Given the description of an element on the screen output the (x, y) to click on. 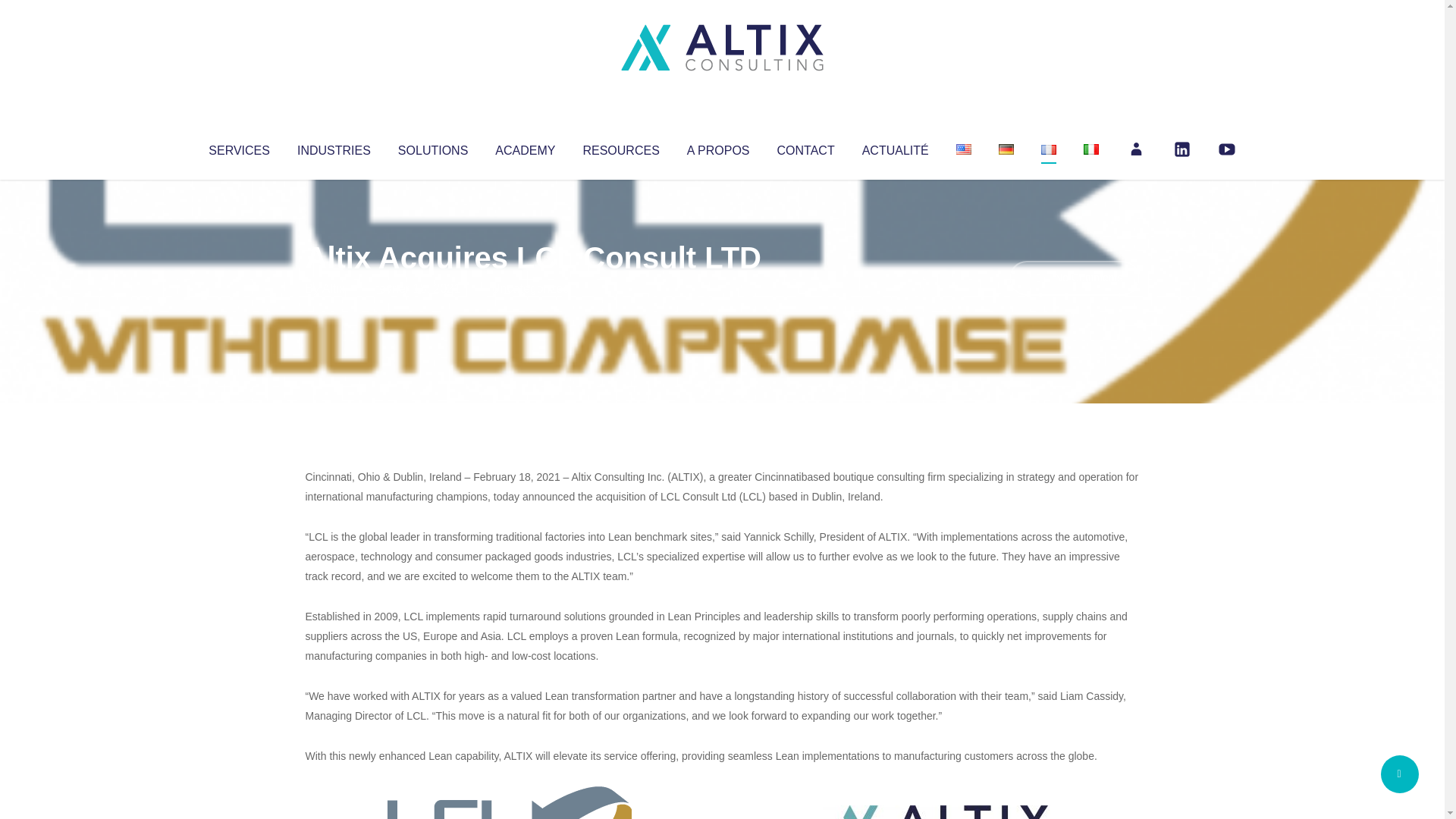
A PROPOS (718, 146)
RESOURCES (620, 146)
No Comments (1073, 278)
SOLUTIONS (432, 146)
INDUSTRIES (334, 146)
Altix (333, 287)
Uncategorized (530, 287)
ACADEMY (524, 146)
SERVICES (238, 146)
Articles par Altix (333, 287)
